Given the description of an element on the screen output the (x, y) to click on. 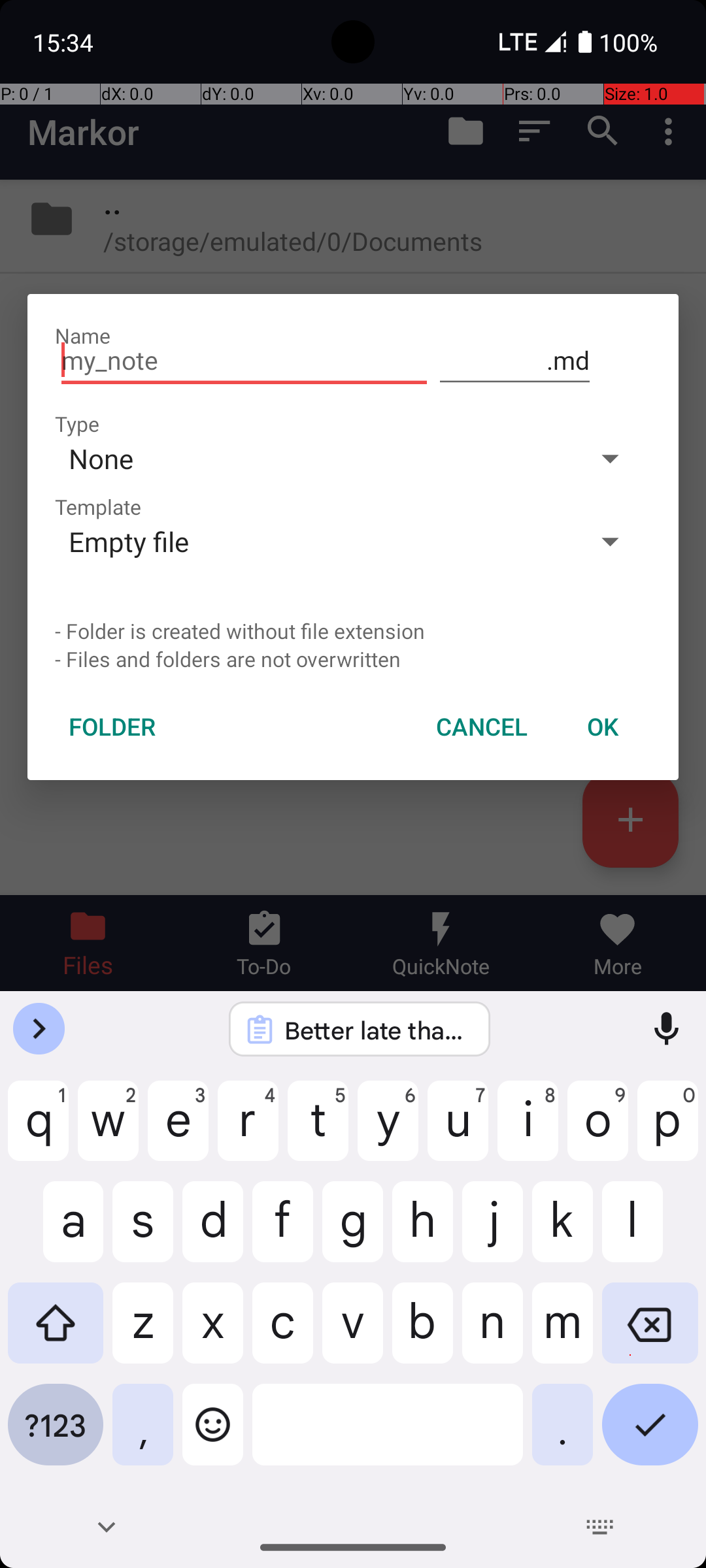
Better late than never. Element type: android.widget.TextView (376, 1029)
